Given the description of an element on the screen output the (x, y) to click on. 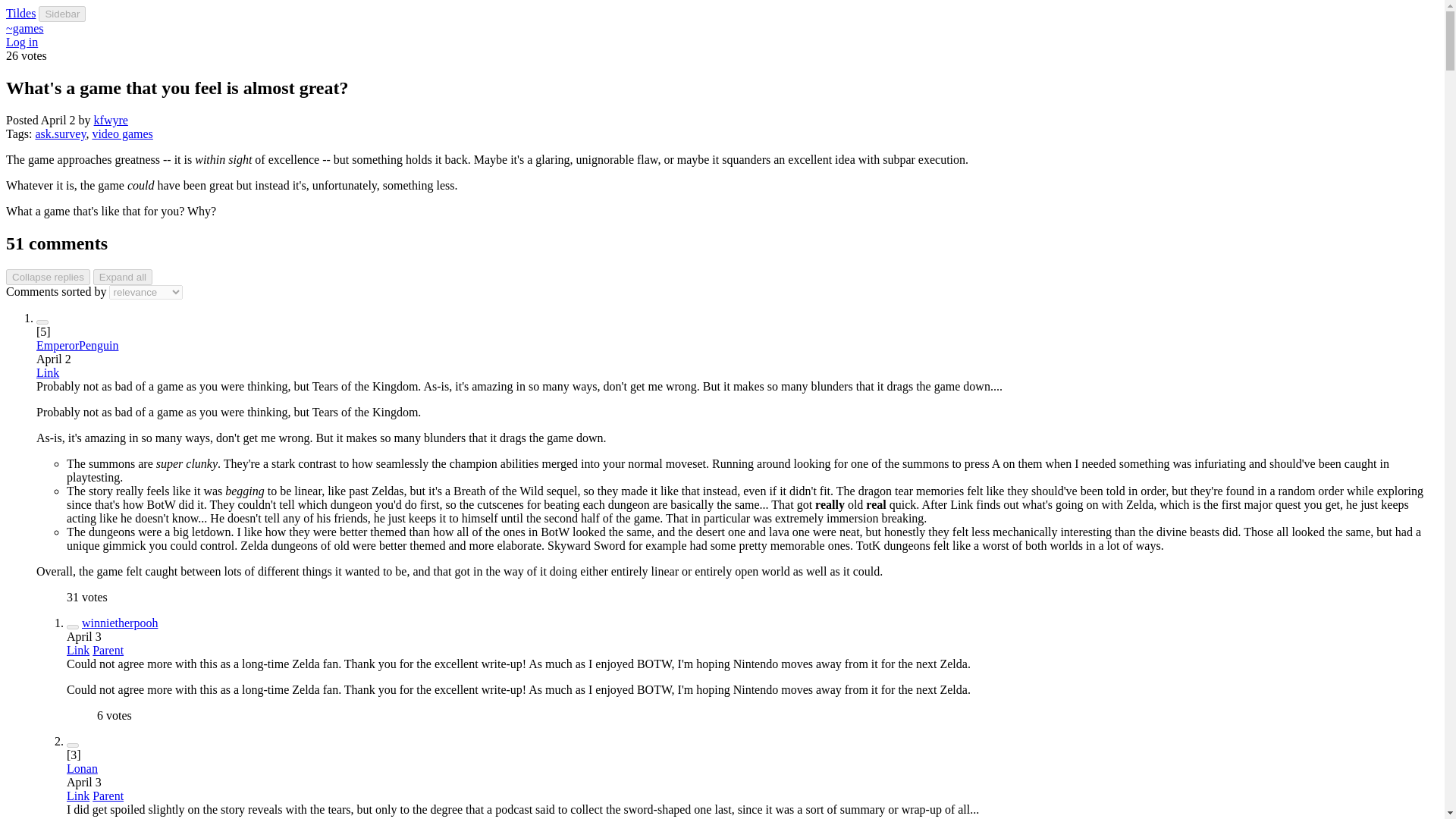
Log in (21, 42)
Collapse replies (47, 277)
Parent (108, 649)
2024-04-02 21:53:46 UTC (57, 119)
2024-04-03 12:50:28 UTC (83, 781)
video games (121, 133)
Sidebar (62, 13)
kfwyre (111, 119)
Parent (108, 795)
Link (77, 795)
2024-04-03 00:11:01 UTC (83, 635)
2024-04-02 22:49:38 UTC (53, 358)
Tildes (19, 12)
Link (47, 372)
Lonan (81, 768)
